Given the description of an element on the screen output the (x, y) to click on. 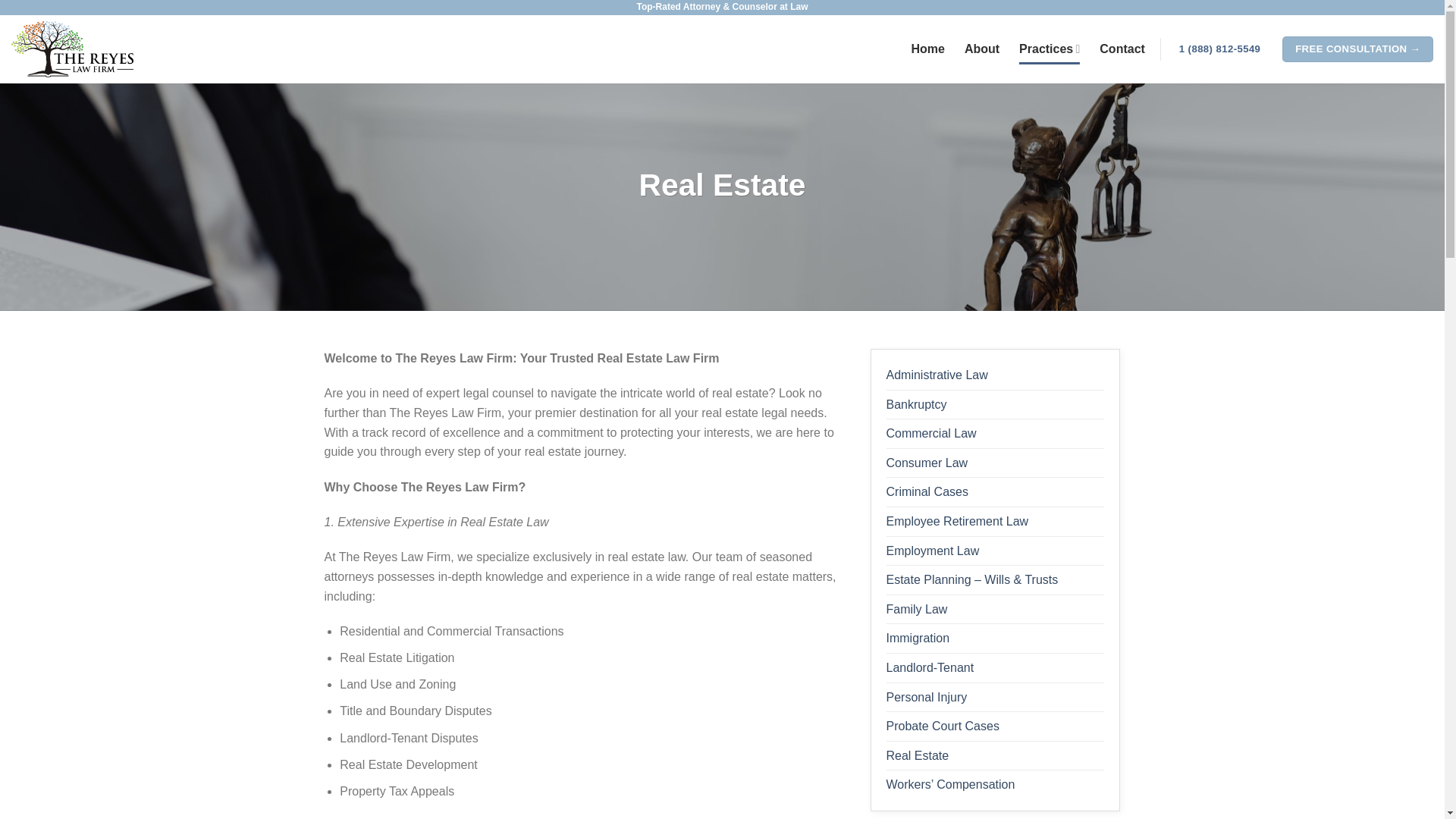
Personal Injury (925, 697)
Probate Court Cases (941, 726)
Real Estate (917, 756)
Criminal Cases (926, 491)
Contact (1121, 49)
Employment Law (931, 551)
Immigration (917, 638)
Practices (1049, 48)
Commercial Law (930, 433)
Employee Retirement Law (956, 521)
Family Law (916, 609)
About (980, 49)
Bankruptcy (915, 404)
Landlord-Tenant (929, 667)
